Given the description of an element on the screen output the (x, y) to click on. 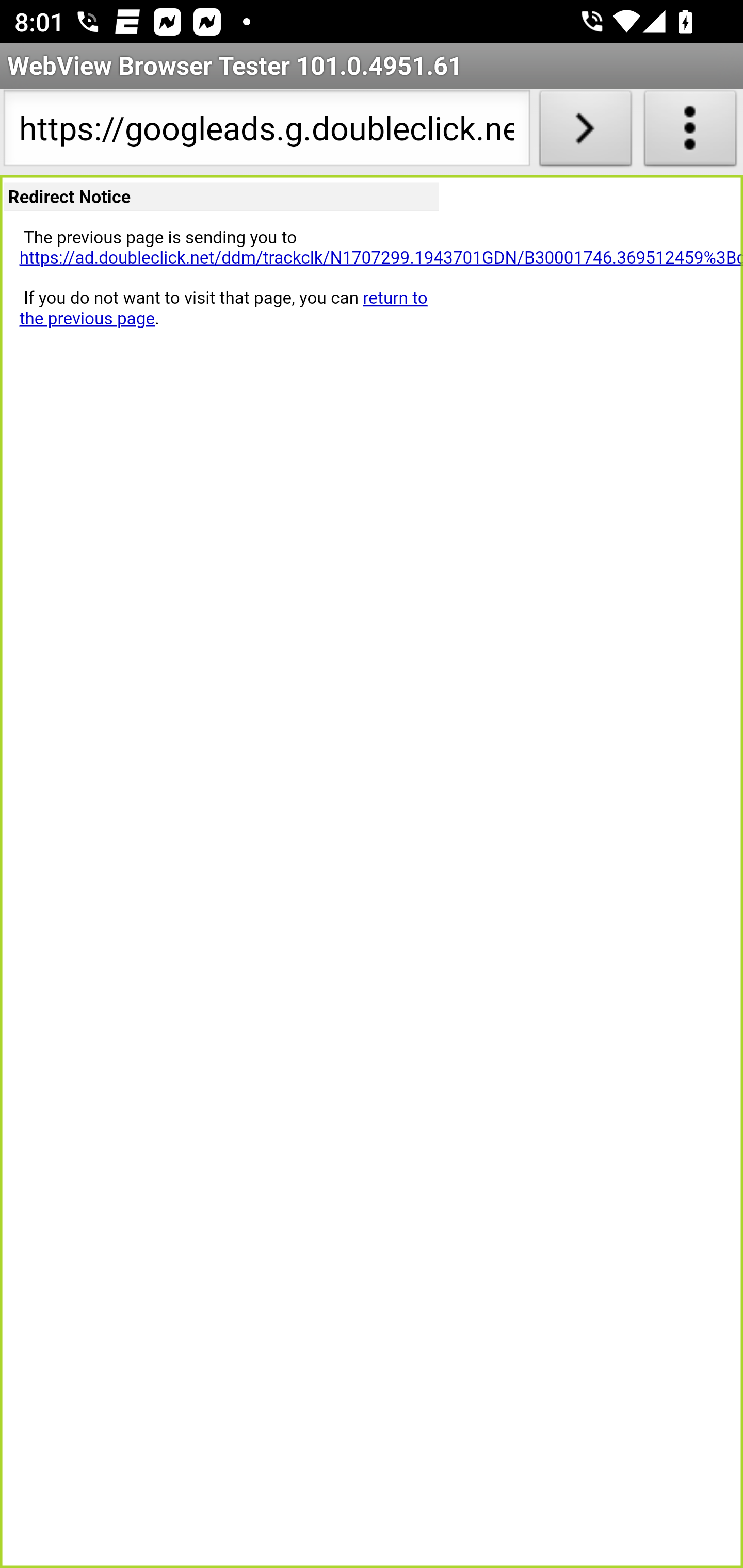
Load URL (585, 132)
About WebView (690, 132)
return to the previous page (222, 307)
